Given the description of an element on the screen output the (x, y) to click on. 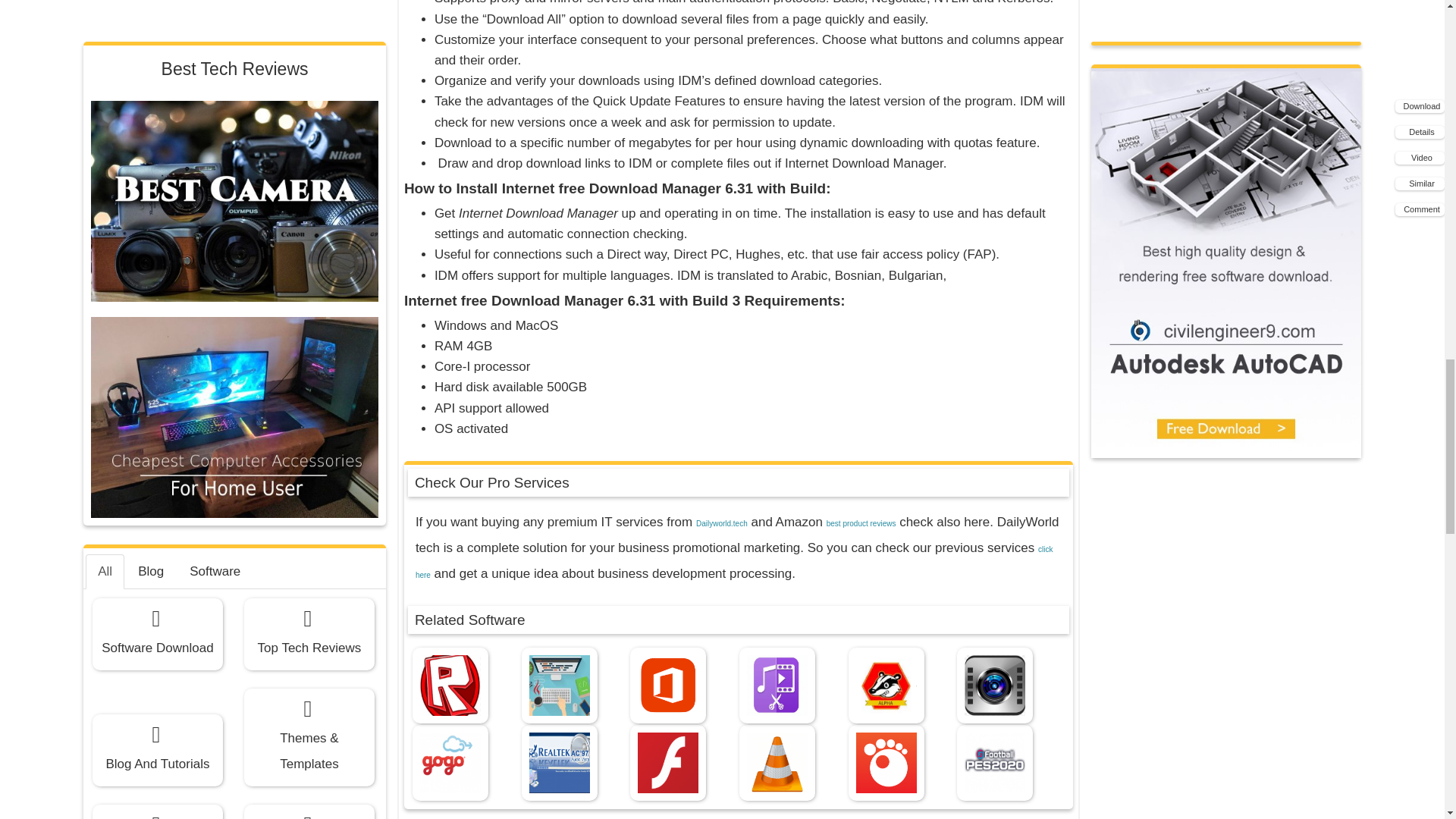
Adobe Flash Player Free Download for Windows 10, 8, 7 (667, 762)
Corel VideoStudio Pro X8 Free Download Full Version For PC (994, 685)
Video Cutter Download Free for Windows XP (776, 685)
Top  web developer in bangladesh (559, 685)
Privacy Badger (885, 685)
ROBLOX Free Download For Windows 7, 8, 10 (450, 685)
